Given the description of an element on the screen output the (x, y) to click on. 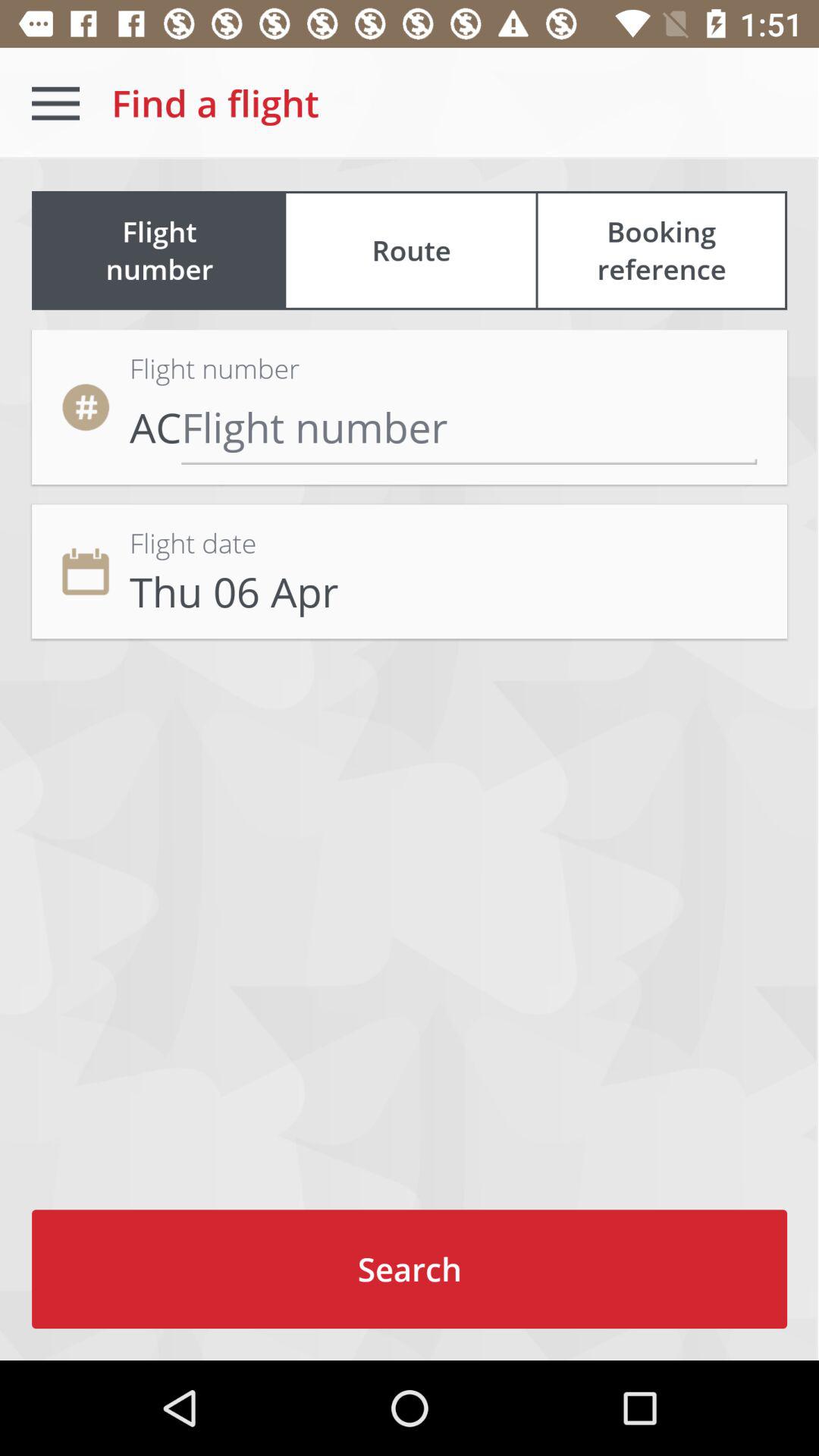
turn off icon at the top right corner (661, 250)
